Given the description of an element on the screen output the (x, y) to click on. 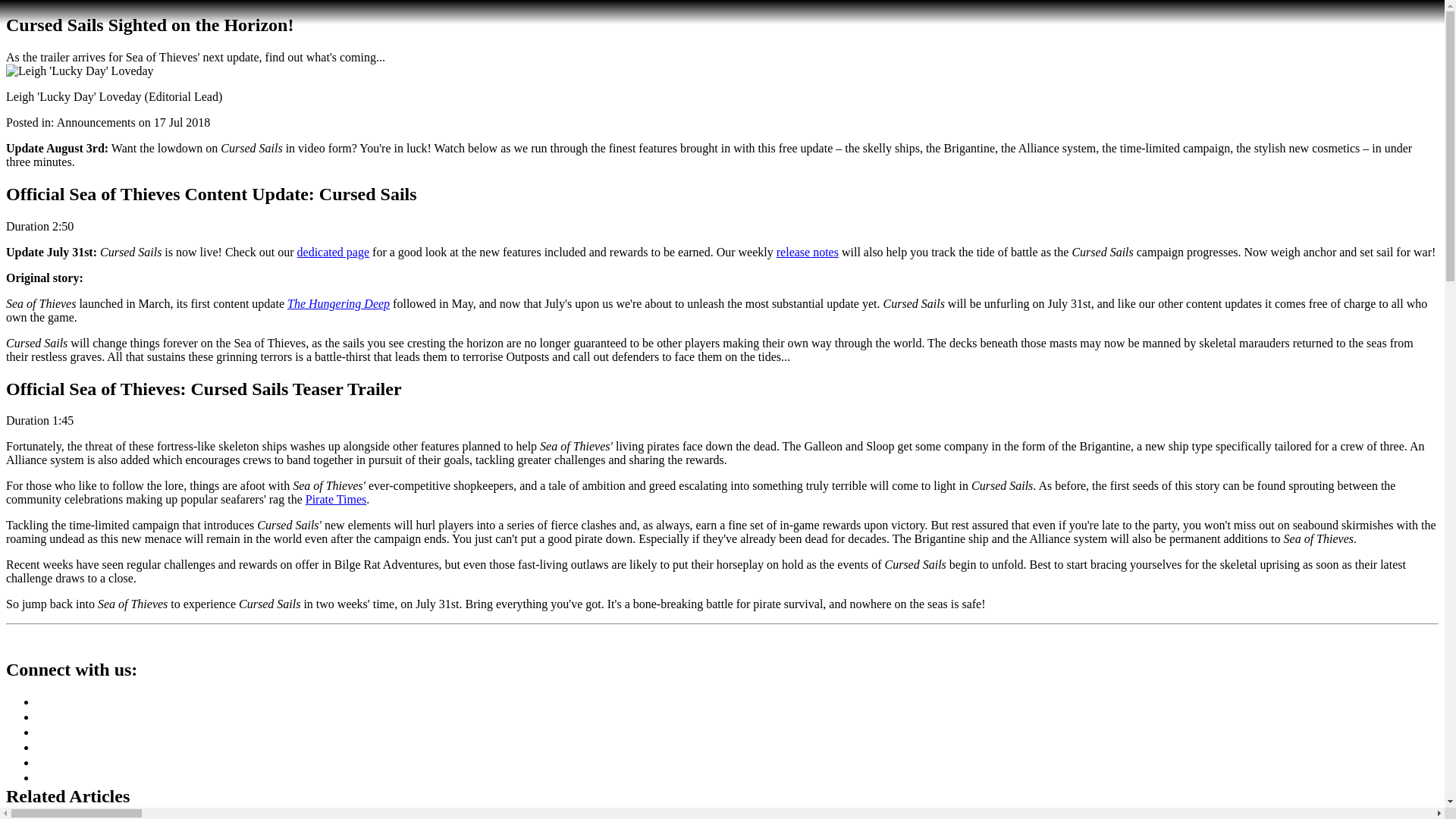
The Hungering Deep (338, 303)
Copy URL To clipboard (22, 641)
Pirate Times (335, 499)
dedicated page (333, 251)
release notes (807, 251)
